Given the description of an element on the screen output the (x, y) to click on. 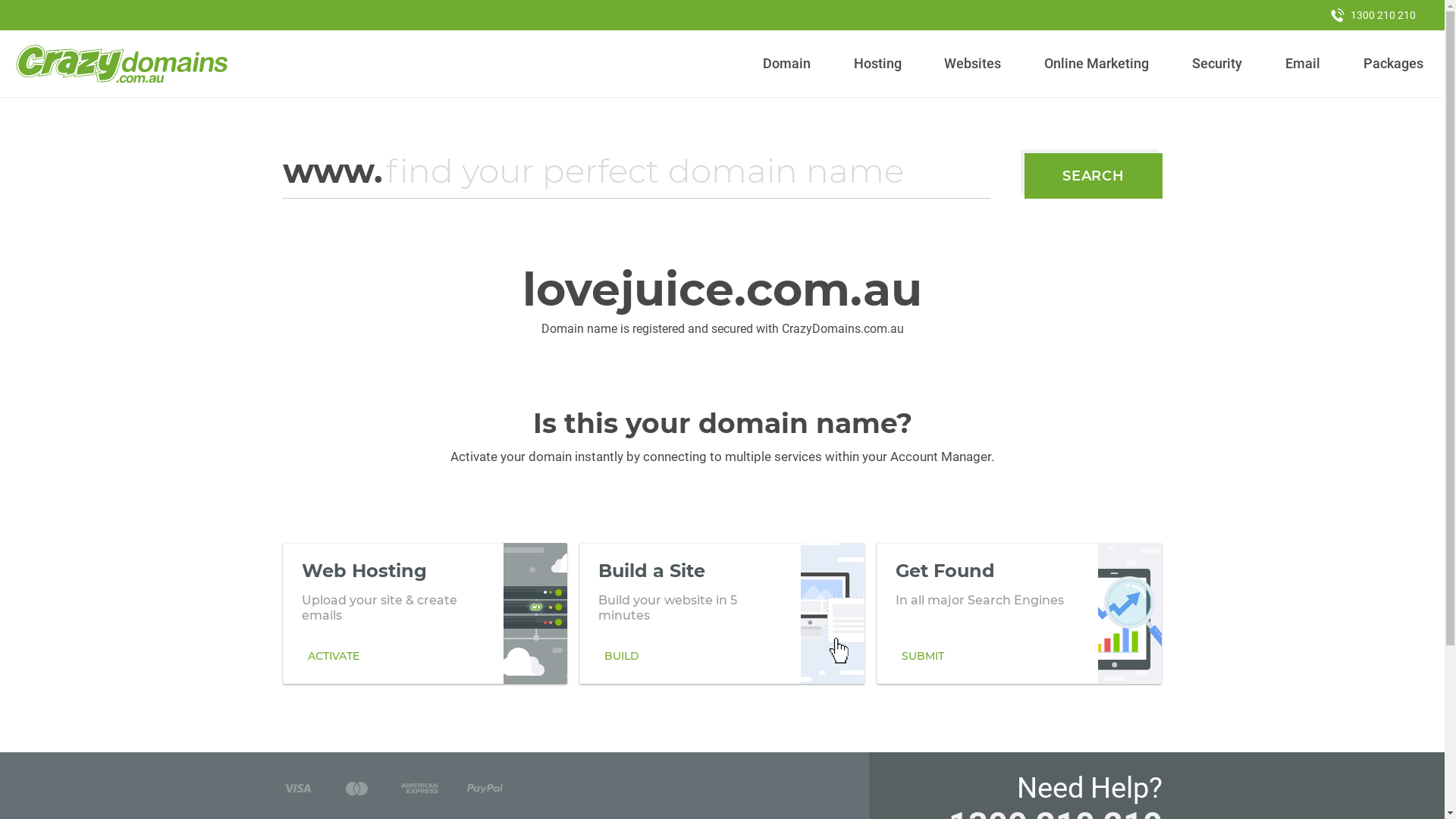
Packages Element type: text (1392, 63)
Hosting Element type: text (877, 63)
1300 210 210 Element type: text (1373, 15)
Email Element type: text (1302, 63)
Domain Element type: text (786, 63)
SEARCH Element type: text (1092, 175)
Security Element type: text (1217, 63)
Web Hosting
Upload your site & create emails
ACTIVATE Element type: text (424, 613)
Online Marketing Element type: text (1096, 63)
Get Found
In all major Search Engines
SUBMIT Element type: text (1018, 613)
Build a Site
Build your website in 5 minutes
BUILD Element type: text (721, 613)
Websites Element type: text (972, 63)
